Given the description of an element on the screen output the (x, y) to click on. 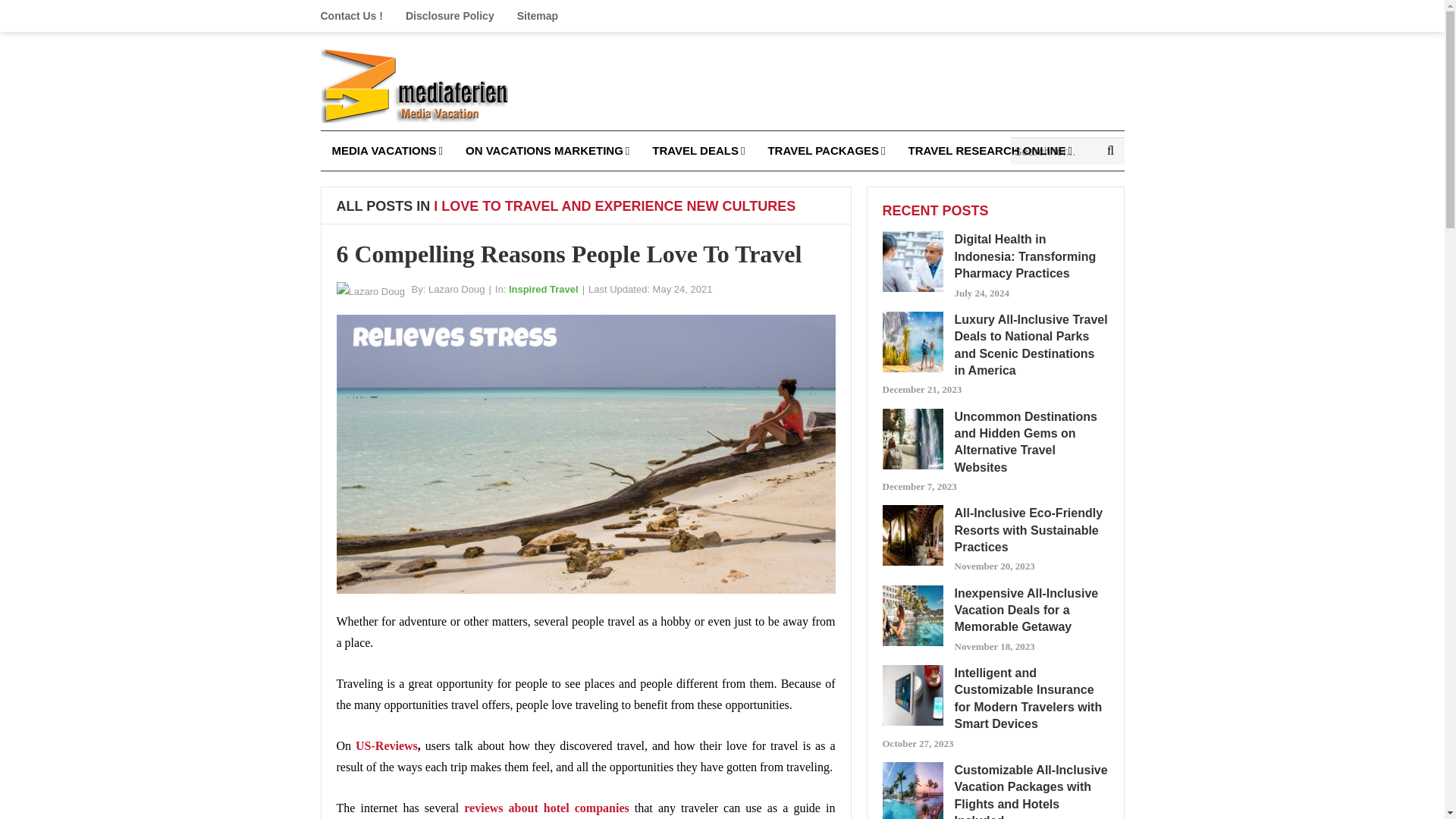
Disclosure Policy (449, 15)
Sitemap (537, 15)
Contact Us ! (356, 15)
